Given the description of an element on the screen output the (x, y) to click on. 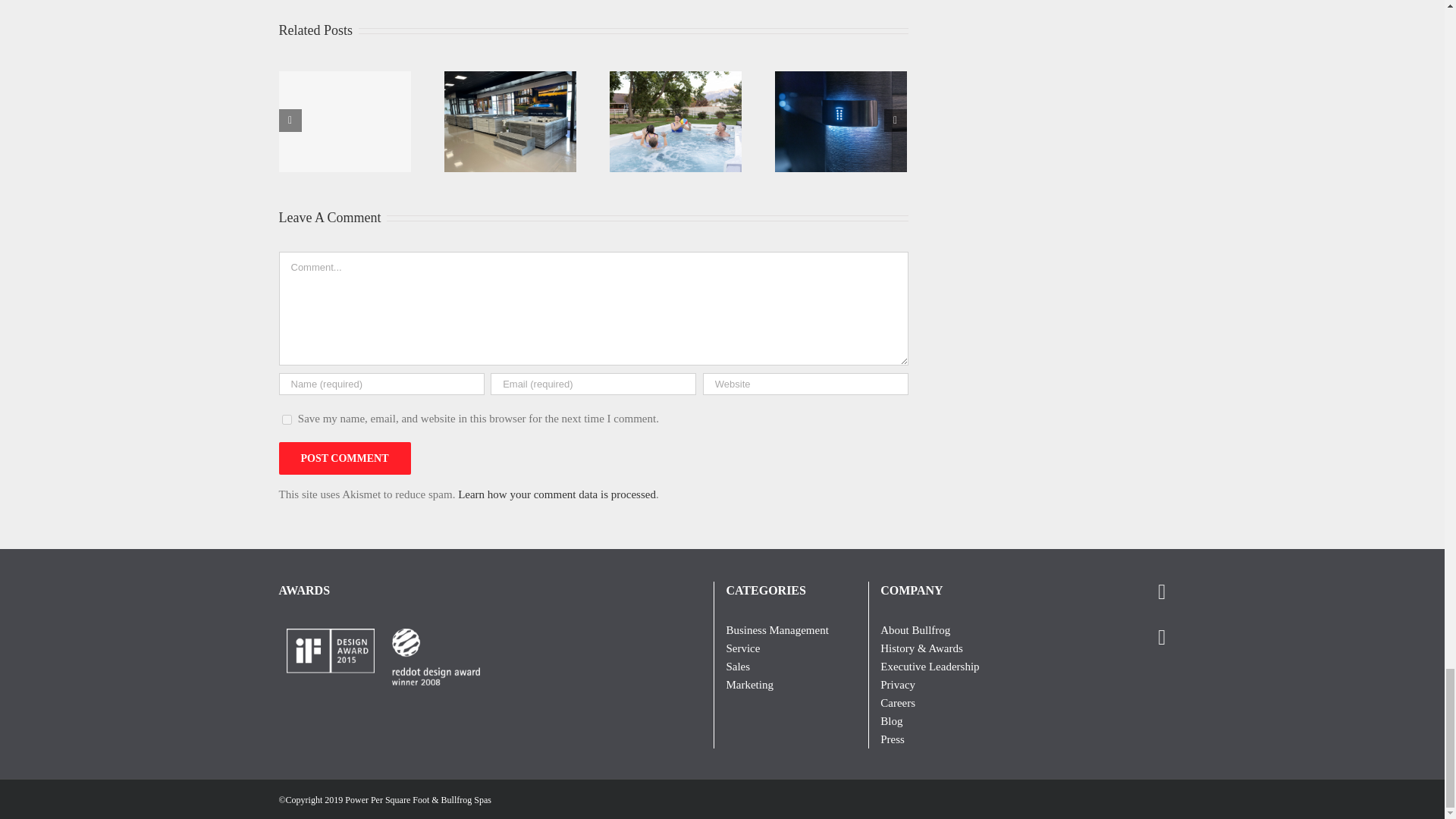
yes (287, 419)
Post Comment (344, 458)
